Given the description of an element on the screen output the (x, y) to click on. 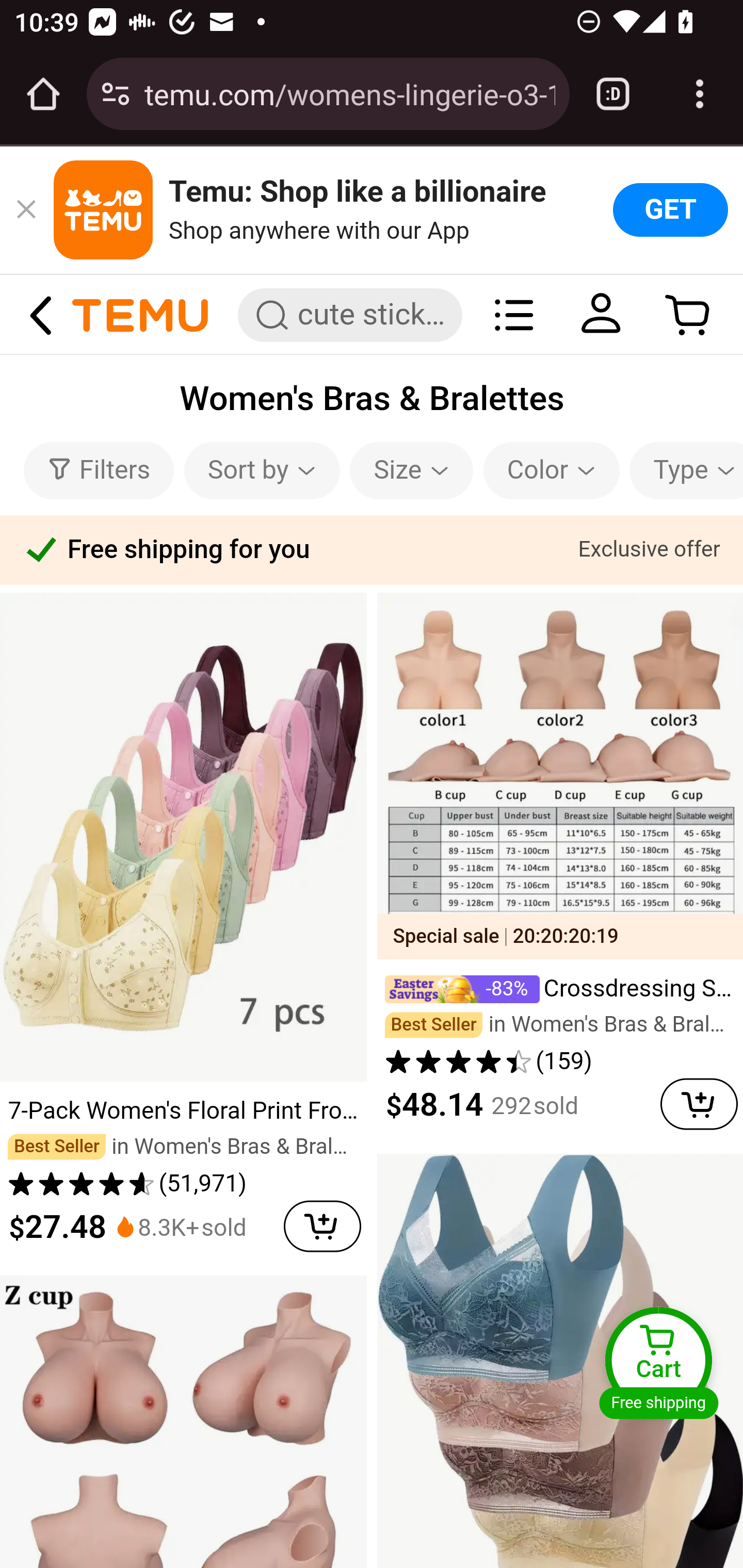
Open the home page (43, 93)
Connection is secure (115, 93)
Switch or close tabs (612, 93)
Customize and control Google Chrome (699, 93)
temu (140, 314)
Categories (513, 314)
You (601, 314)
Cart (687, 314)
Search Temu Search field (349, 314)
Add to cart (692, 1099)
Add to cart (322, 1221)
Cart (658, 1359)
